Given the description of an element on the screen output the (x, y) to click on. 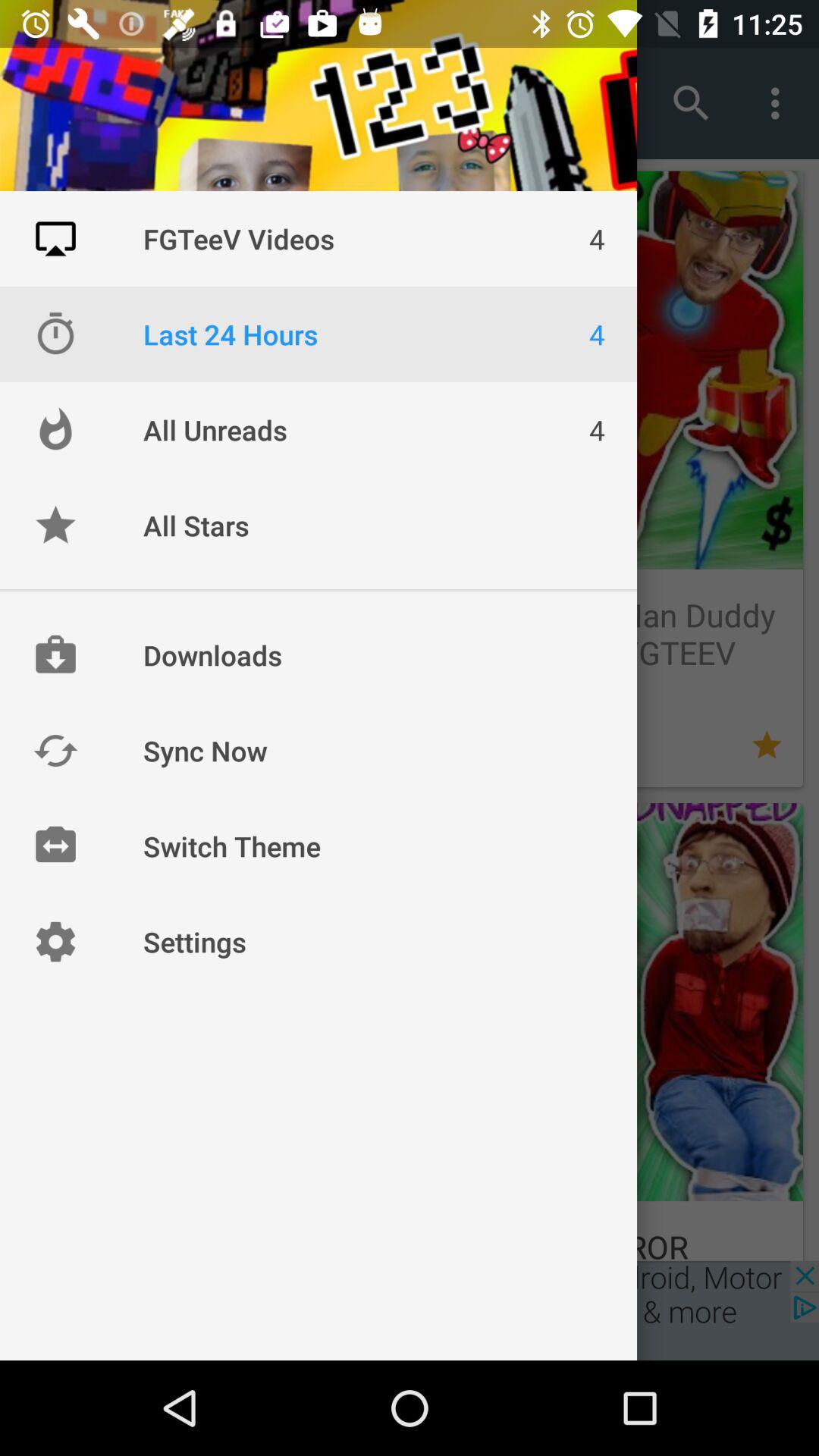
click on the search option (691, 103)
